Given the description of an element on the screen output the (x, y) to click on. 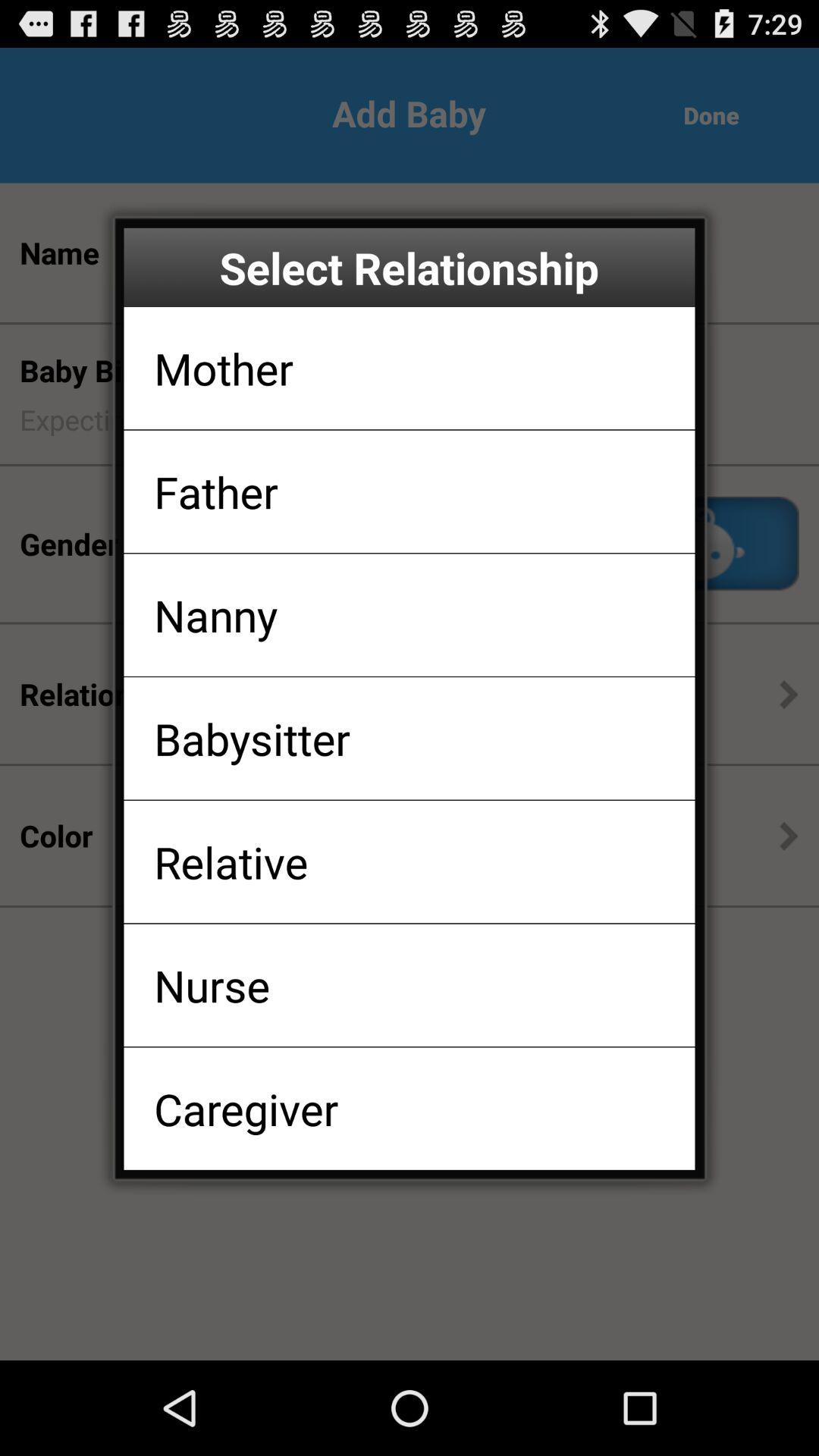
flip to babysitter (252, 738)
